Given the description of an element on the screen output the (x, y) to click on. 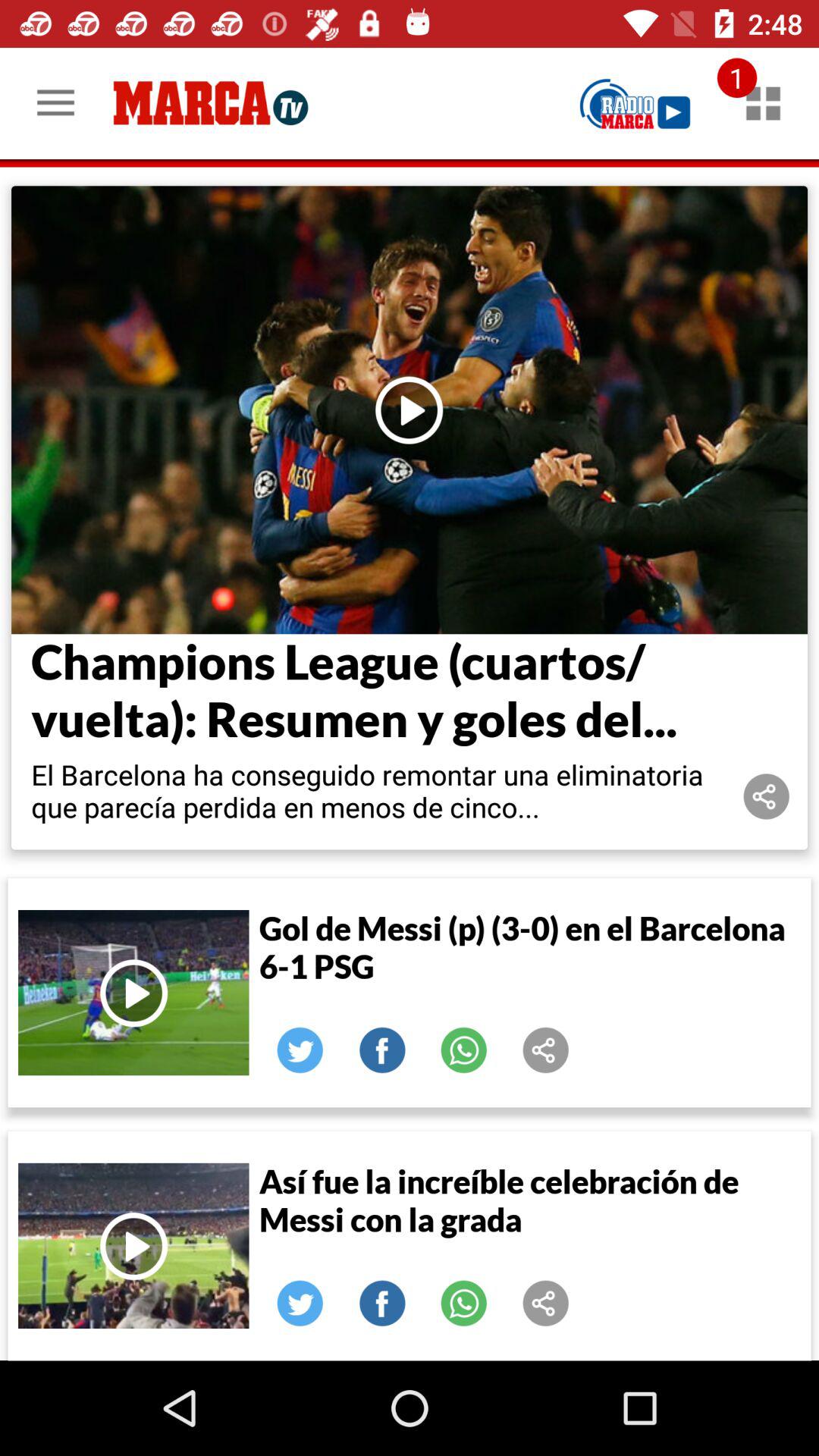
share news on social media (545, 1303)
